Given the description of an element on the screen output the (x, y) to click on. 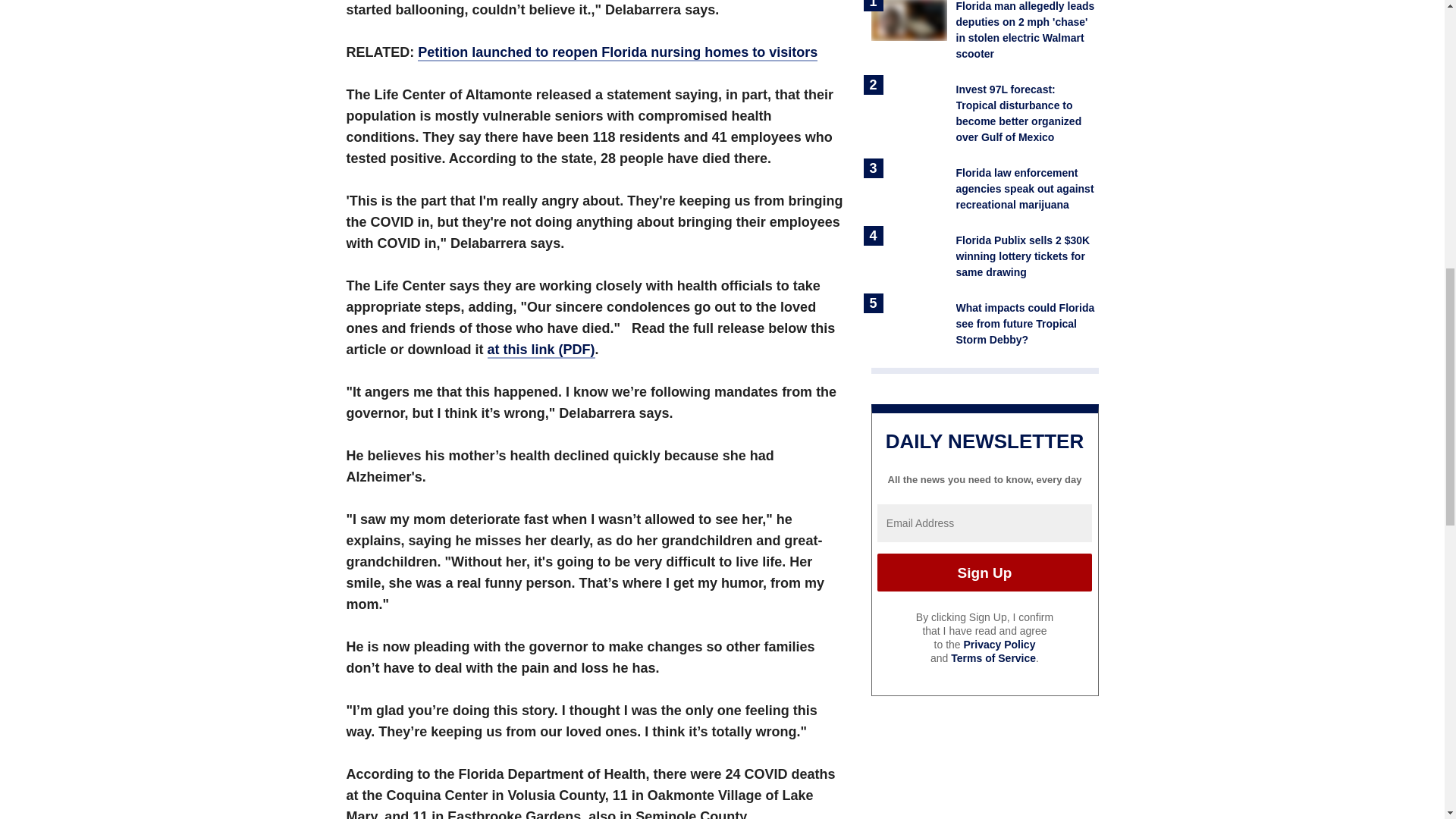
Sign Up (984, 572)
